Given the description of an element on the screen output the (x, y) to click on. 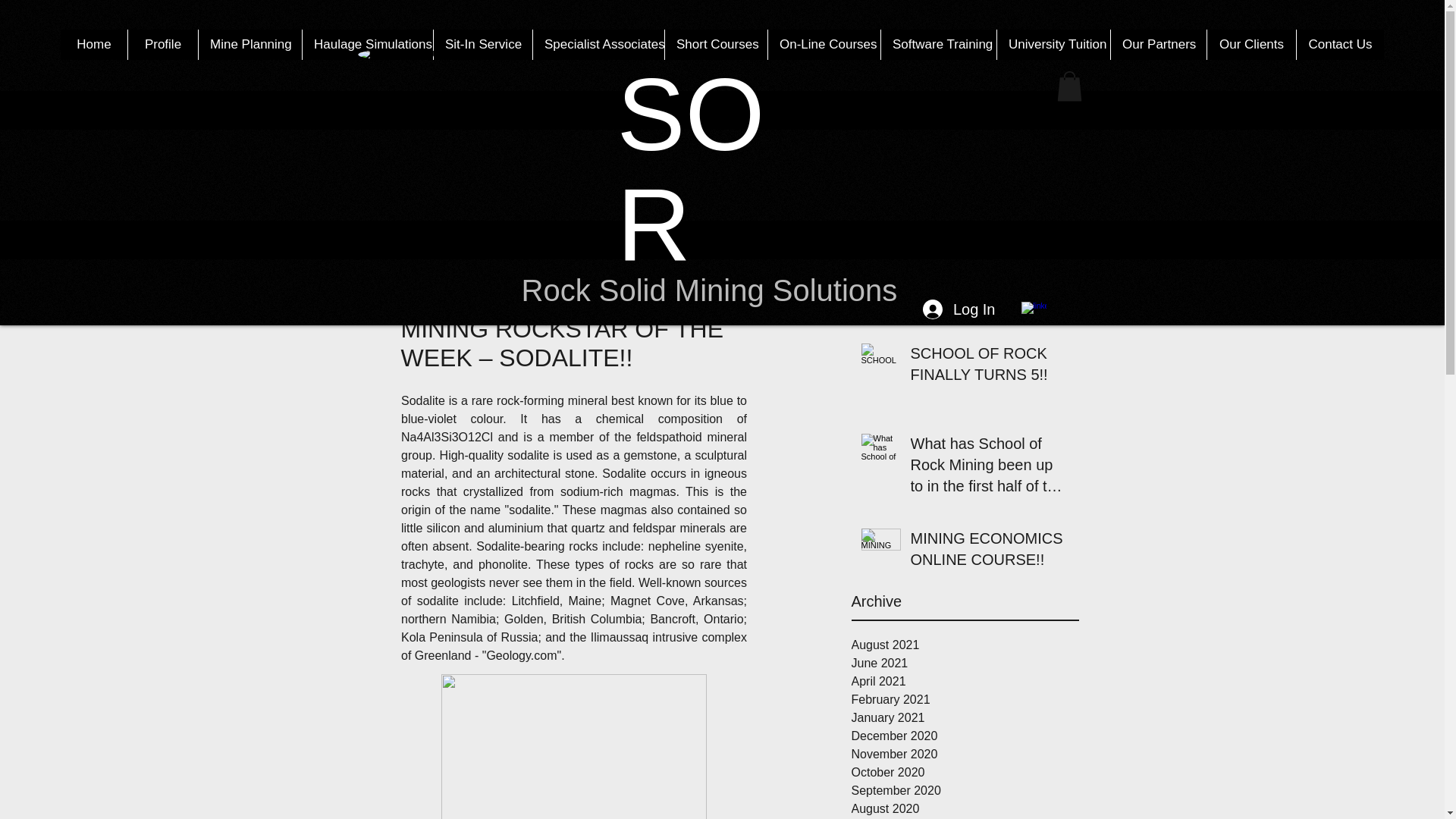
August 2021 (964, 645)
Software Training (937, 44)
April 2021 (964, 681)
Sit-In Service (482, 44)
August 2020 (964, 809)
Profile (163, 44)
Specialist Associates (597, 44)
Log In (959, 309)
Home (94, 44)
On-Line Courses (823, 44)
